Given the description of an element on the screen output the (x, y) to click on. 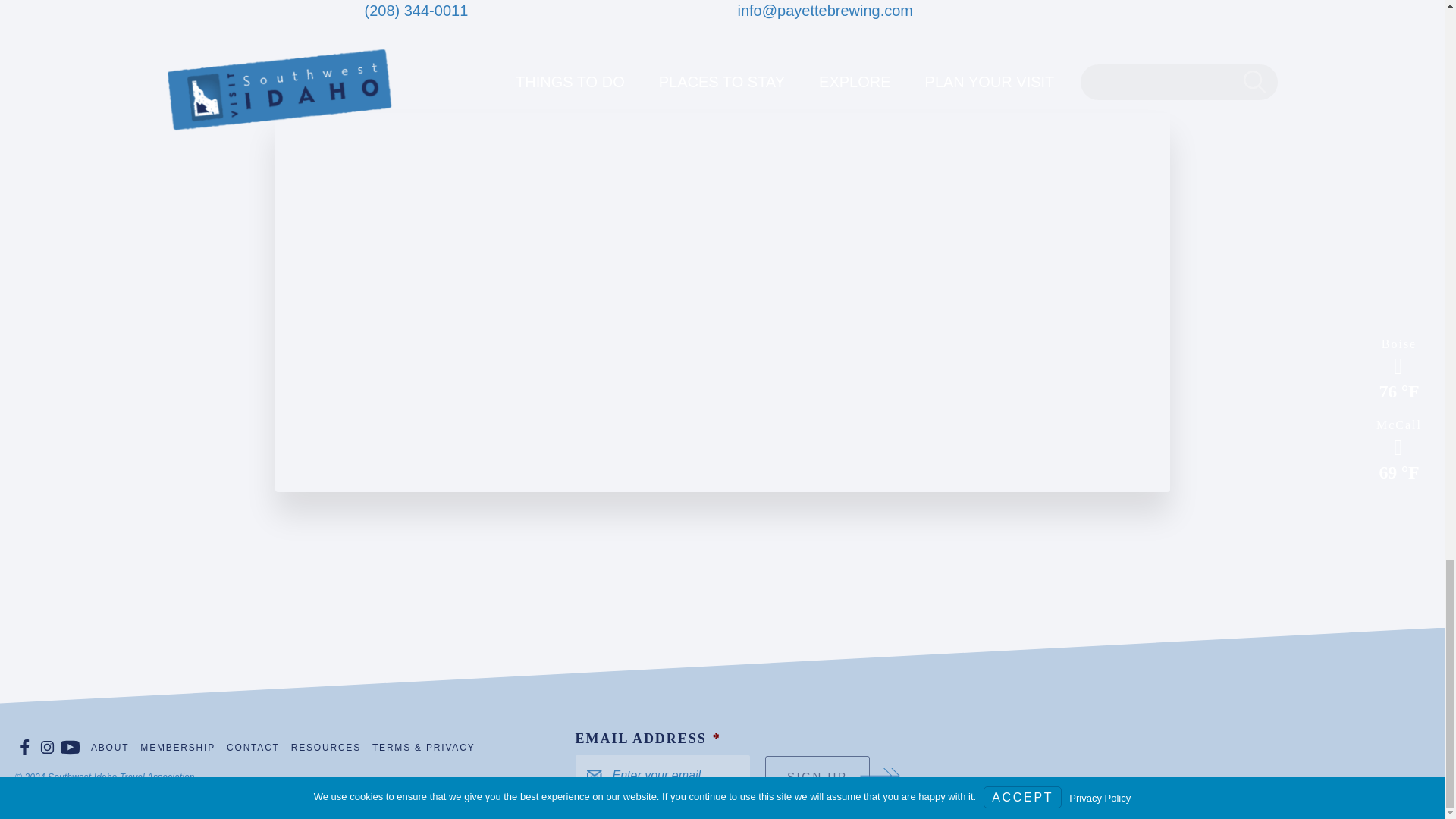
Sign Up (817, 775)
